Given the description of an element on the screen output the (x, y) to click on. 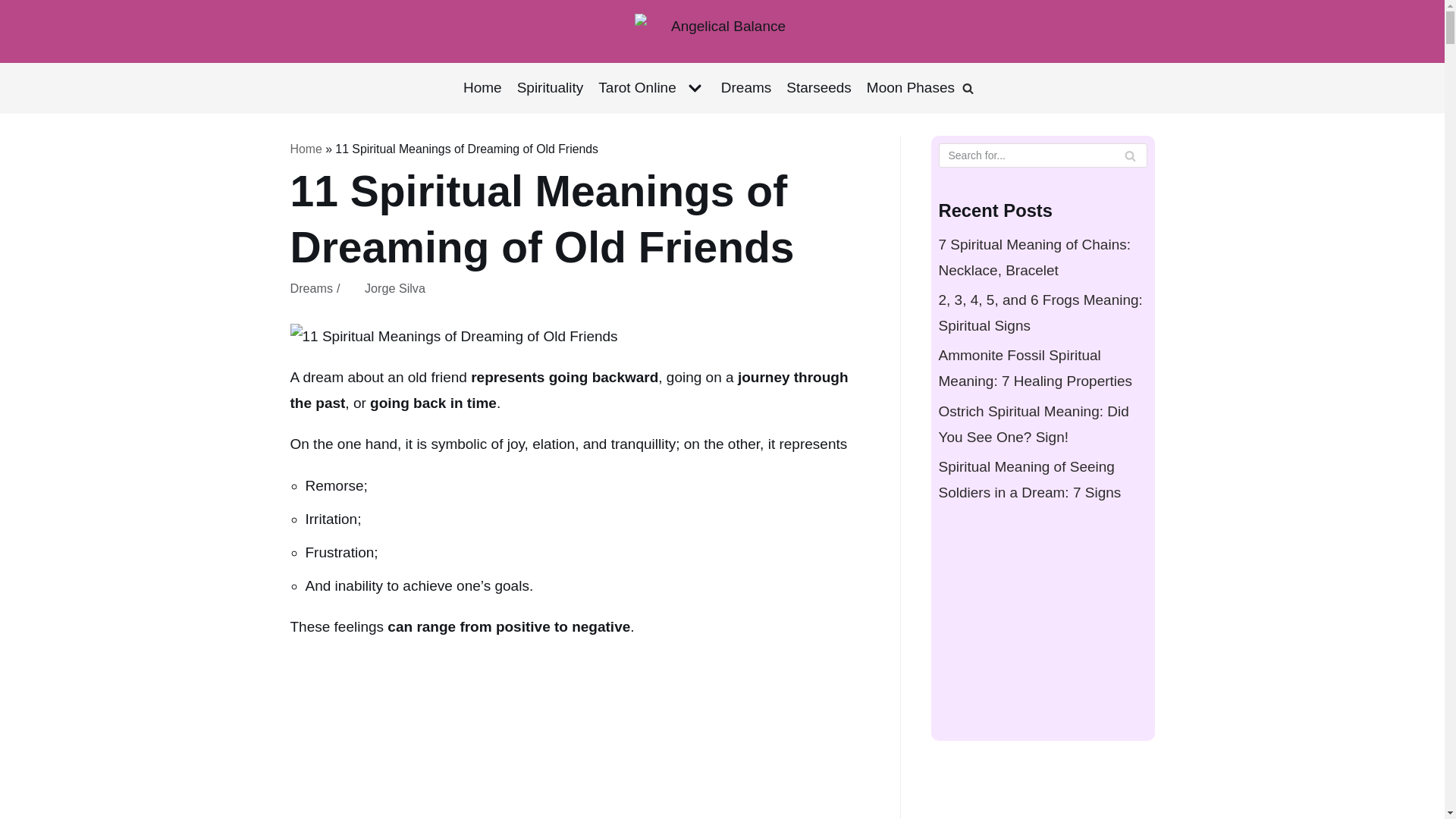
Tarot Online (651, 87)
Home (482, 87)
Angelical Balance (721, 31)
Spirituality (549, 87)
Posts by Jorge Silva (395, 287)
Starseeds (818, 87)
Moon Phases (910, 87)
Skip to content (15, 7)
Dreams (745, 87)
